Given the description of an element on the screen output the (x, y) to click on. 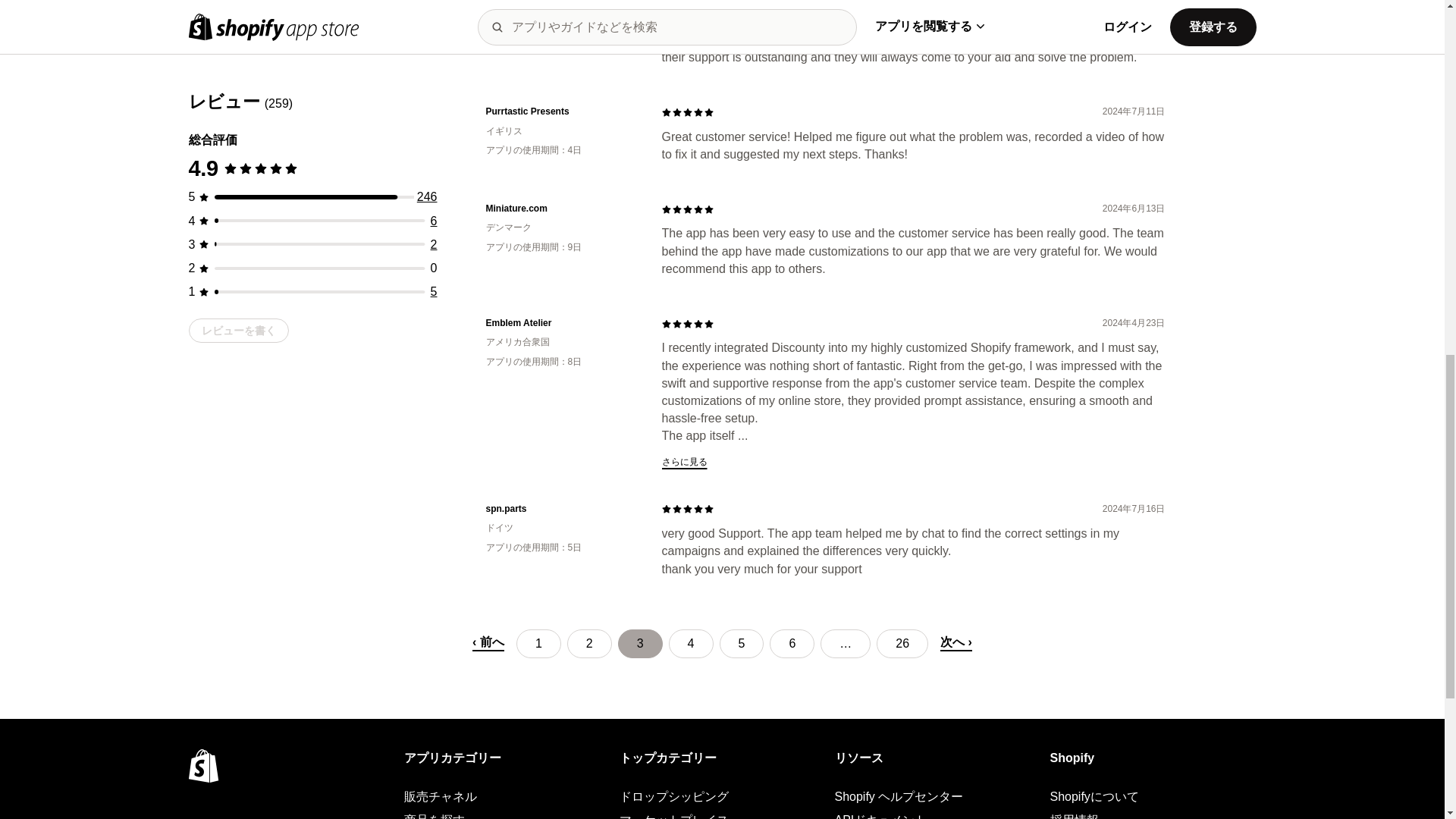
spn.parts (560, 508)
Miniature.com (560, 208)
Purrtastic Presents (560, 111)
AM Smart Homes (560, 2)
Emblem Atelier (560, 323)
